Given the description of an element on the screen output the (x, y) to click on. 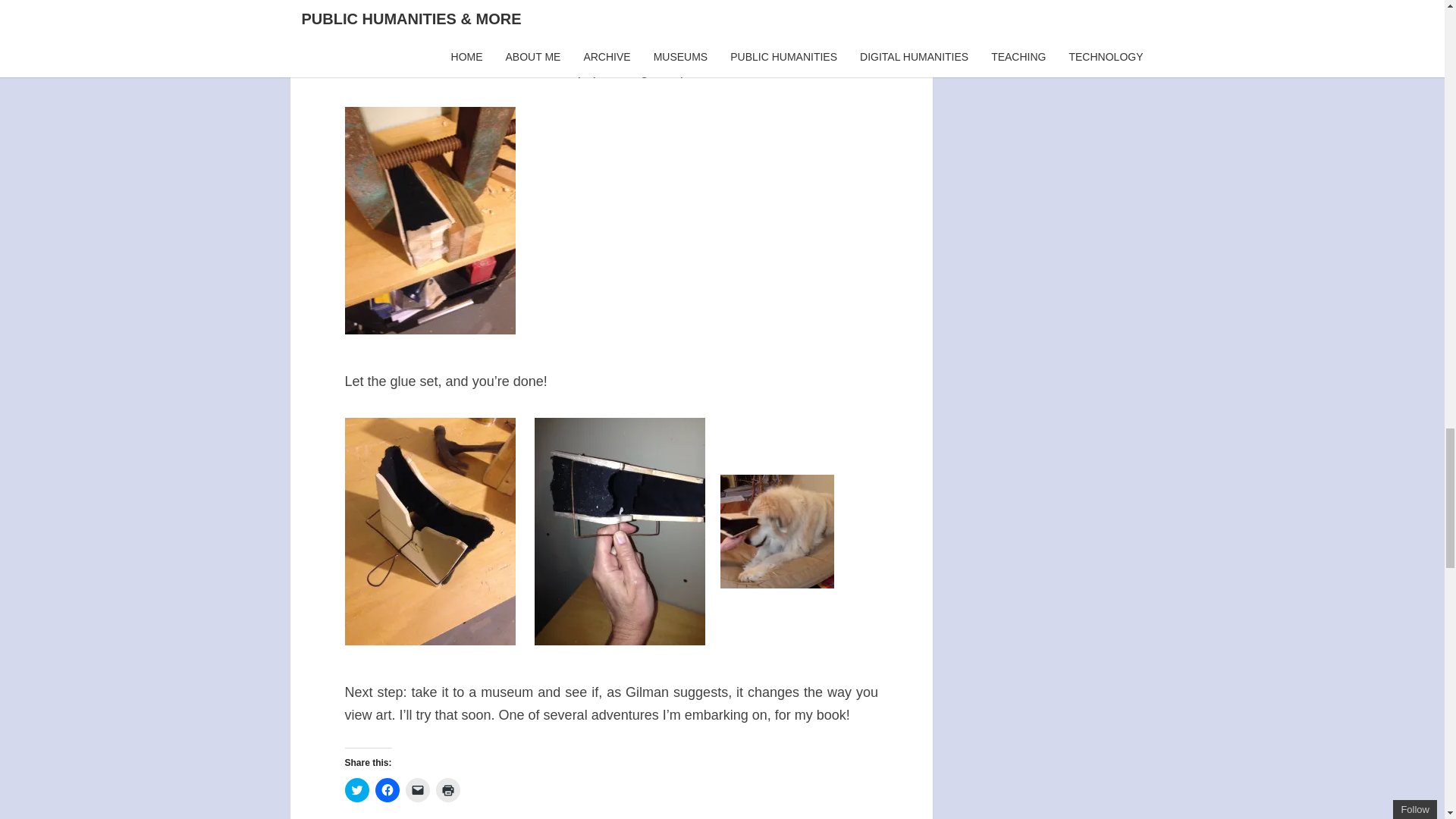
Click to share on Facebook (386, 790)
Click to email a link to a friend (416, 790)
Click to share on Twitter (355, 790)
Click to print (447, 790)
